Given the description of an element on the screen output the (x, y) to click on. 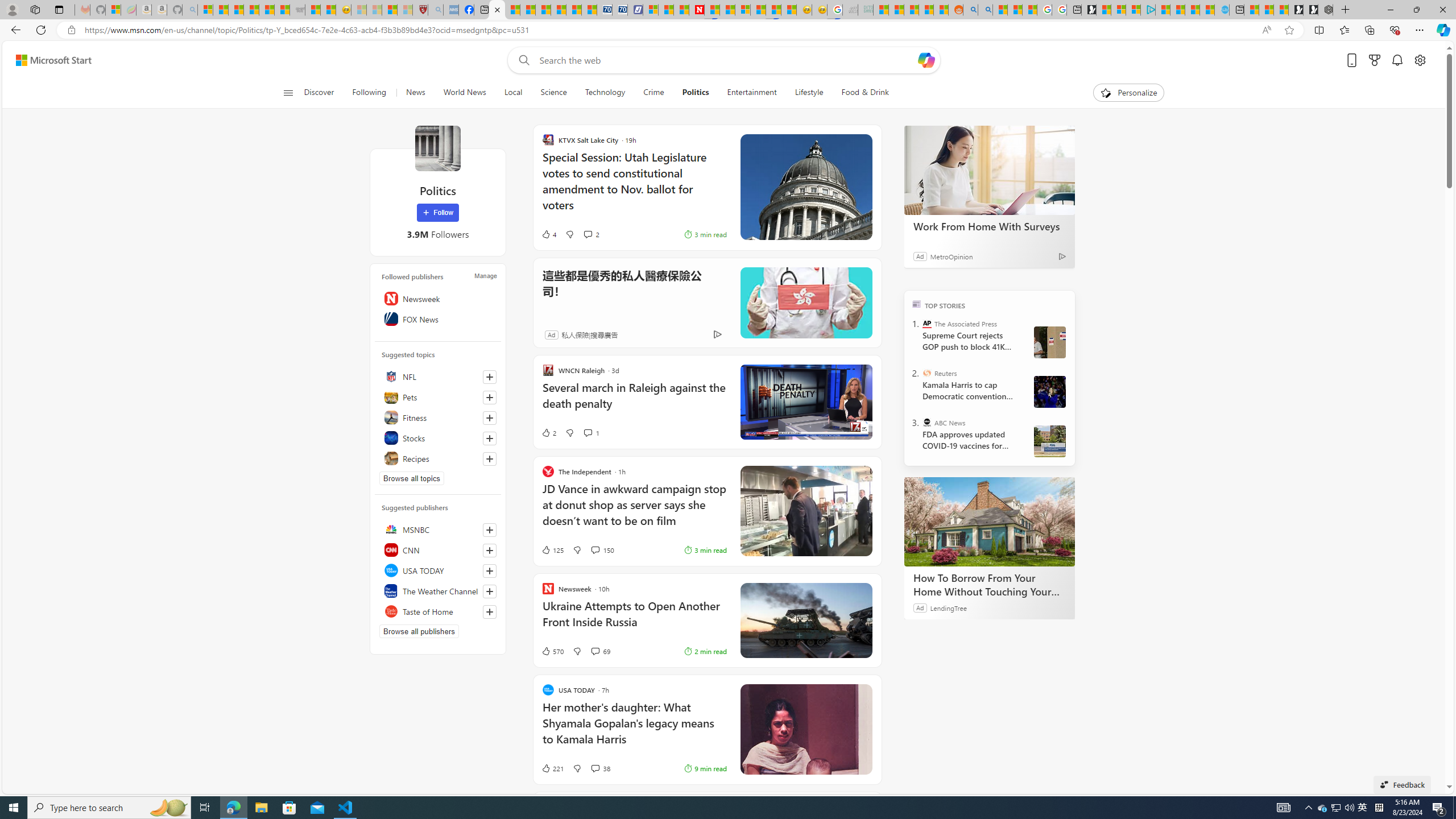
Follow (437, 212)
4 Like (547, 233)
